Given the description of an element on the screen output the (x, y) to click on. 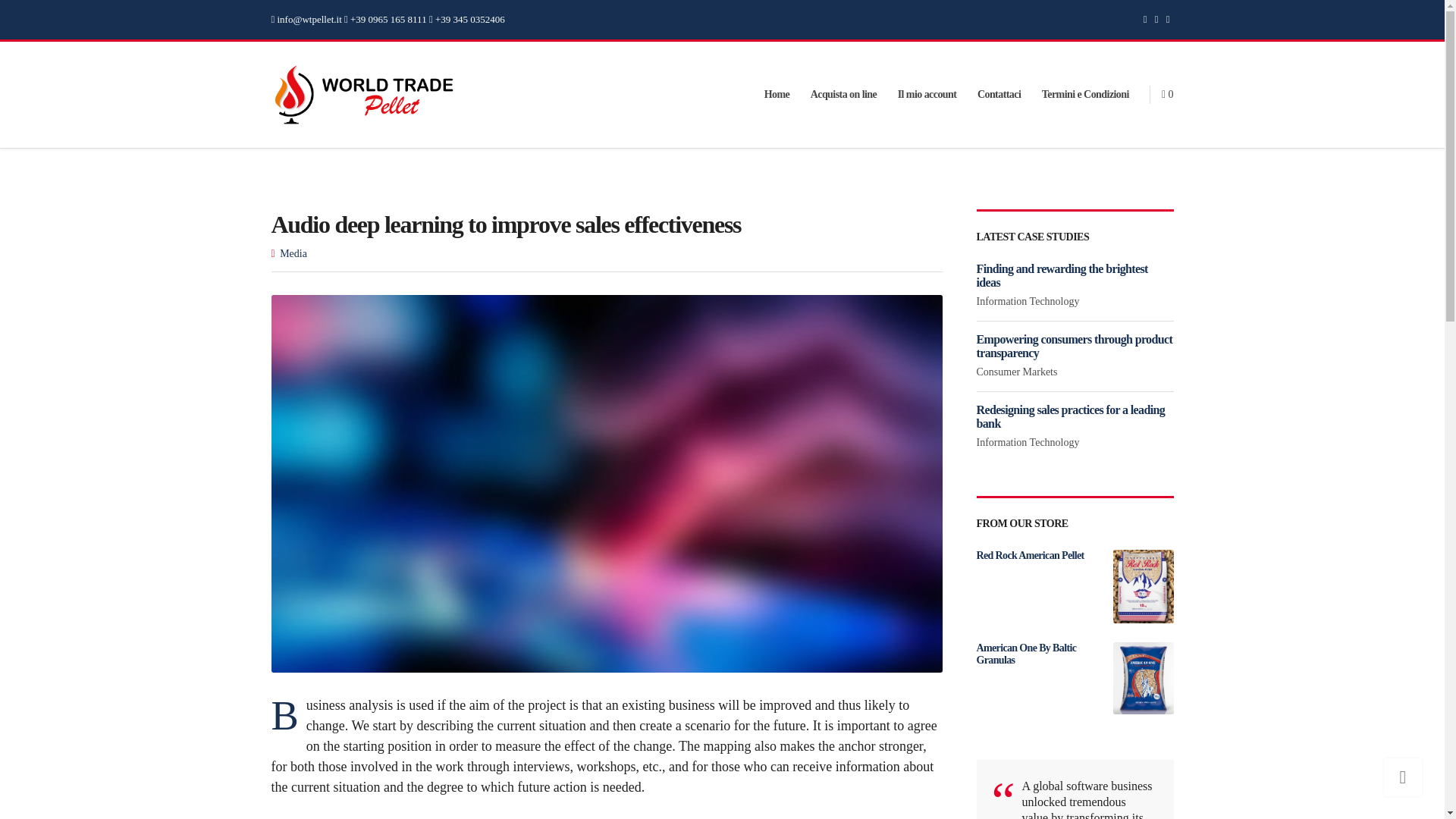
Finding and rewarding the brightest ideas (1062, 275)
Contattaci (998, 94)
Il mio account (927, 94)
American One By Baltic Granulas (1074, 654)
Information Technology (1028, 441)
Acquista on line (843, 94)
Redesigning sales practices for a leading bank (1071, 416)
Termini e Condizioni (1085, 94)
Empowering consumers through product transparency (1074, 345)
Consumer Markets (1017, 371)
Media (293, 253)
Home (777, 94)
Red Rock American Pellet (1074, 555)
0 (1167, 93)
